Given the description of an element on the screen output the (x, y) to click on. 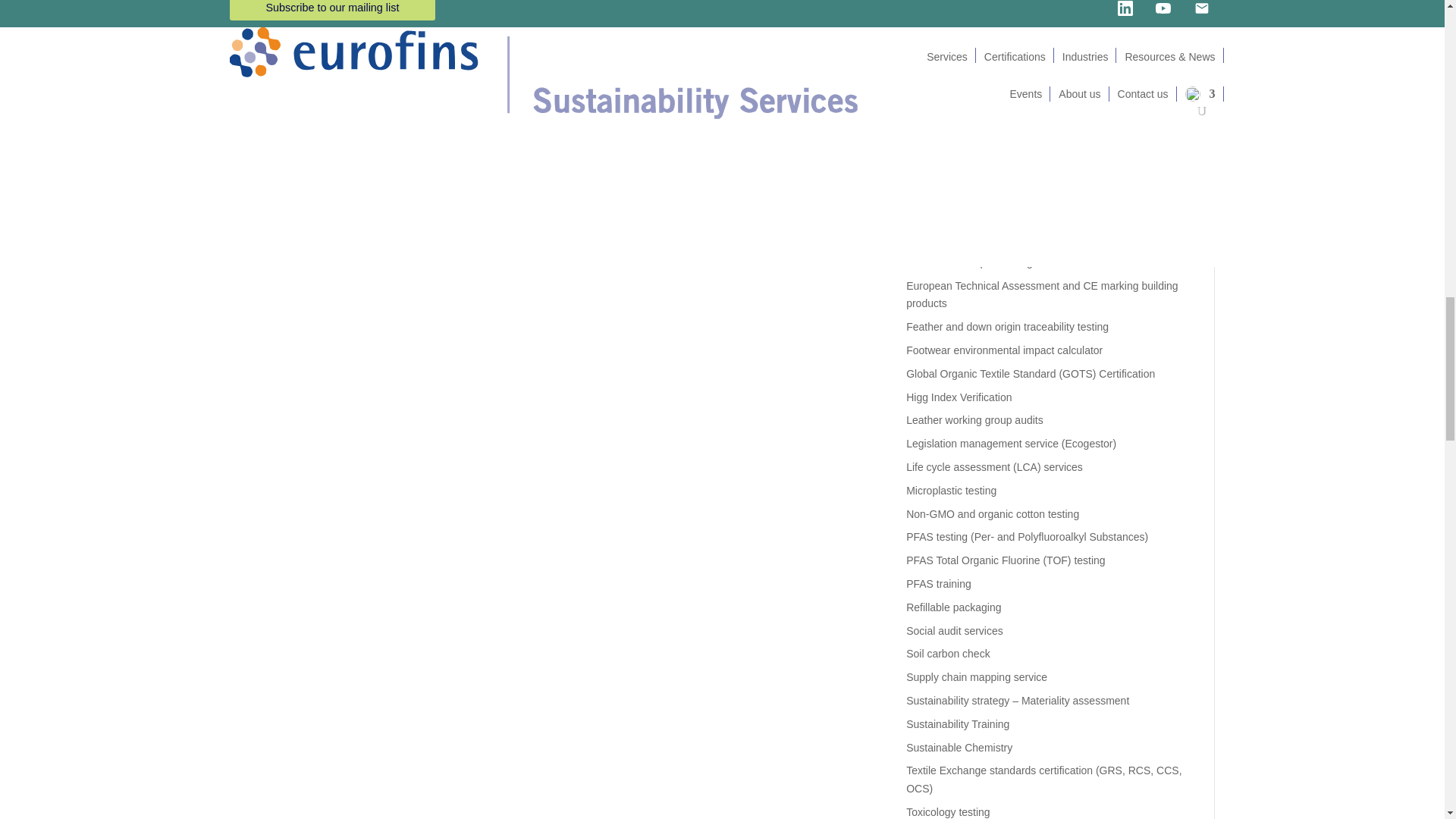
Chrome VI management (963, 98)
Chem-ST hazardous chemical smart testing (1008, 28)
Chem-MAP chemical management solutions (1010, 5)
Chrome VI risk profiler (958, 121)
Chemical testing (945, 74)
Chemical management audit (973, 51)
